Given the description of an element on the screen output the (x, y) to click on. 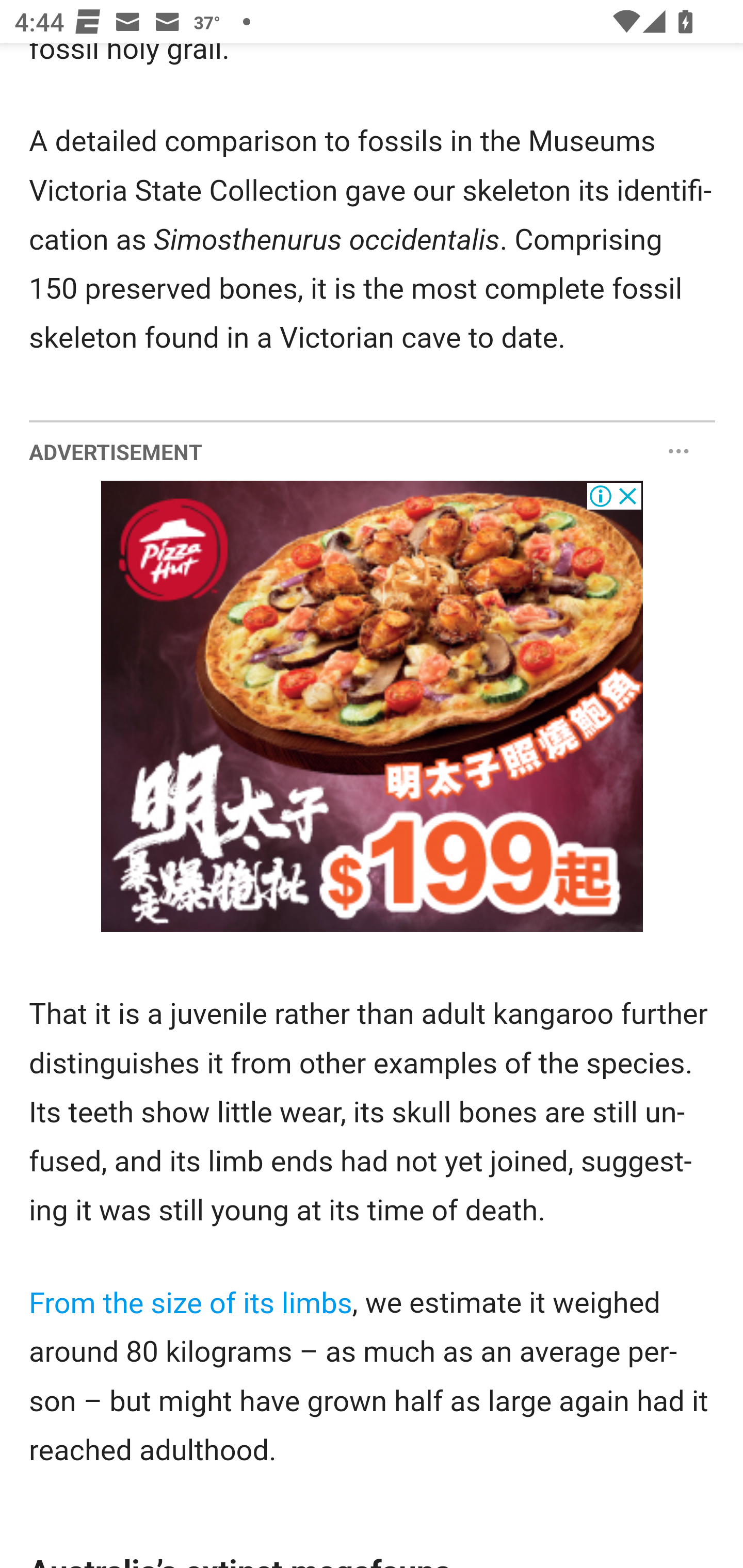
From the size of its limbs (190, 1302)
